Given the description of an element on the screen output the (x, y) to click on. 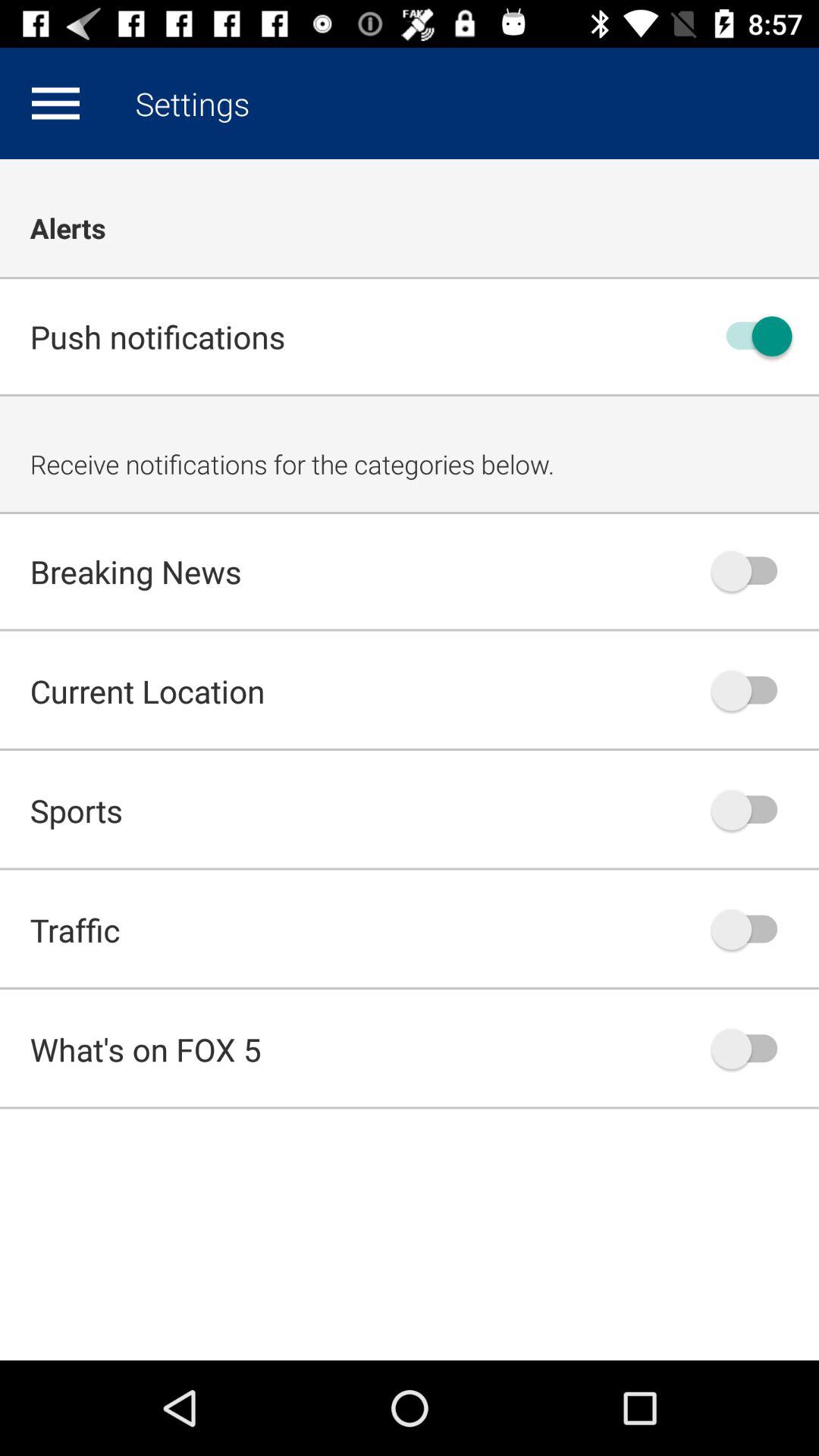
toggle breaking news notification option (751, 571)
